Given the description of an element on the screen output the (x, y) to click on. 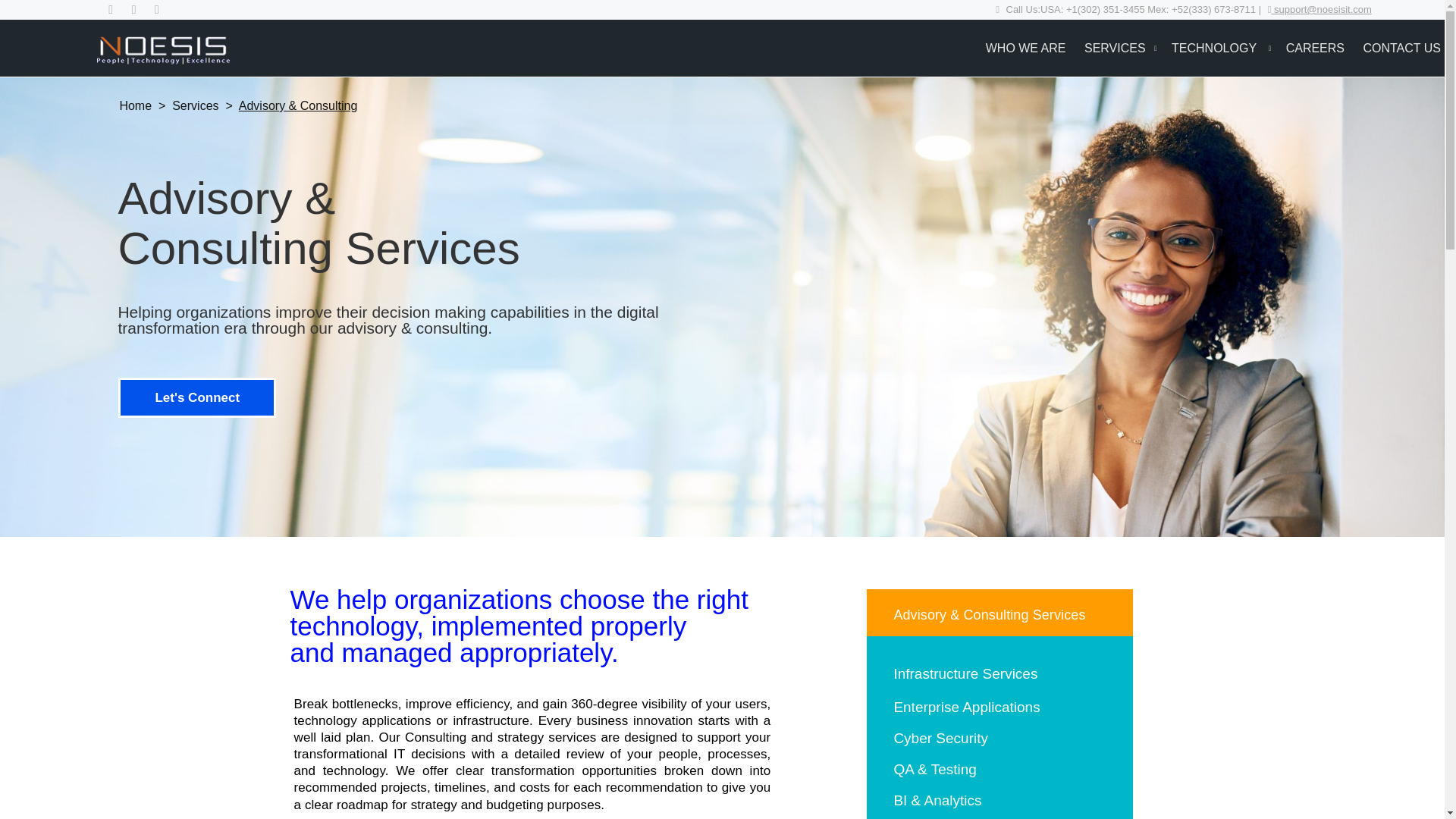
CONTACT US (1401, 47)
Infrastructure Services (964, 673)
Let'S Connect (196, 397)
WHO WE ARE (1025, 47)
TECHNOLOGY  (1215, 47)
CAREERS (1314, 47)
Enterprise Applications (966, 706)
Cyber Security (940, 738)
SERVICES (1114, 47)
